Given the description of an element on the screen output the (x, y) to click on. 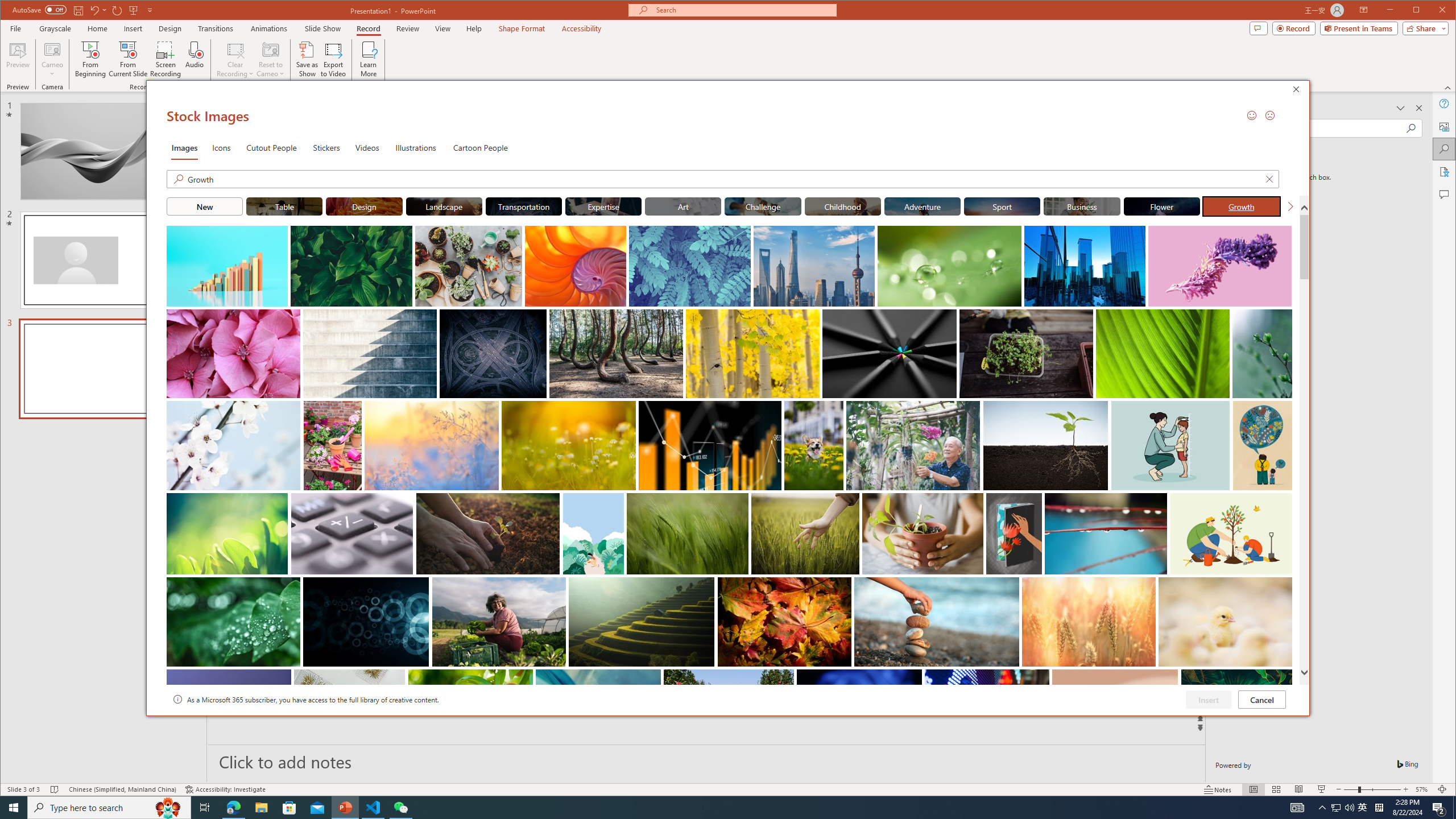
Learn More (368, 59)
Microsoft Edge - 1 running window (233, 807)
"Sport" Stock Images. (1001, 206)
Search "Football Players" (723, 178)
Stickers (326, 147)
Present in Teams (1358, 28)
Start (13, 807)
Cutout People (271, 147)
